Given the description of an element on the screen output the (x, y) to click on. 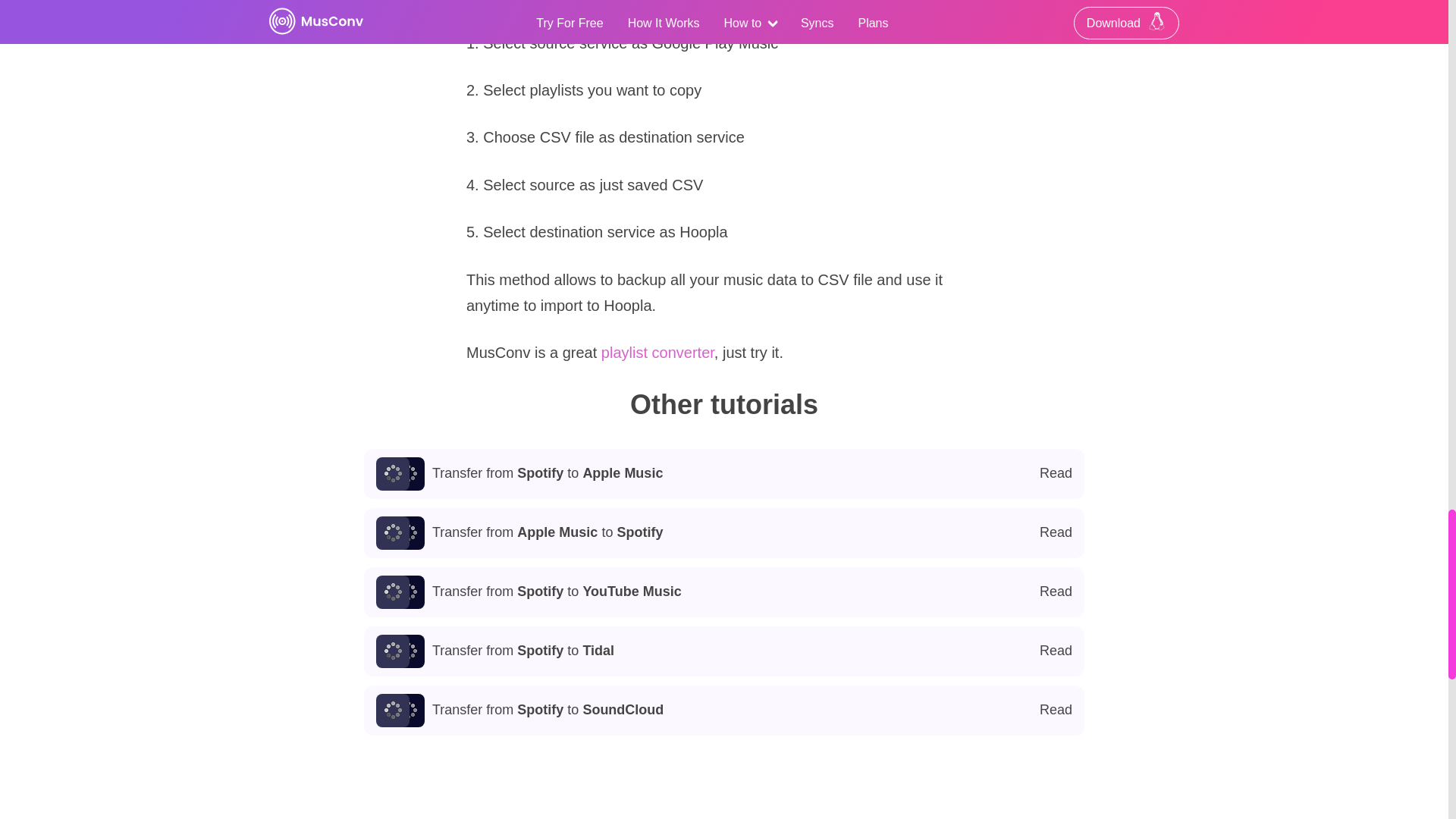
playlist converter (724, 532)
